Given the description of an element on the screen output the (x, y) to click on. 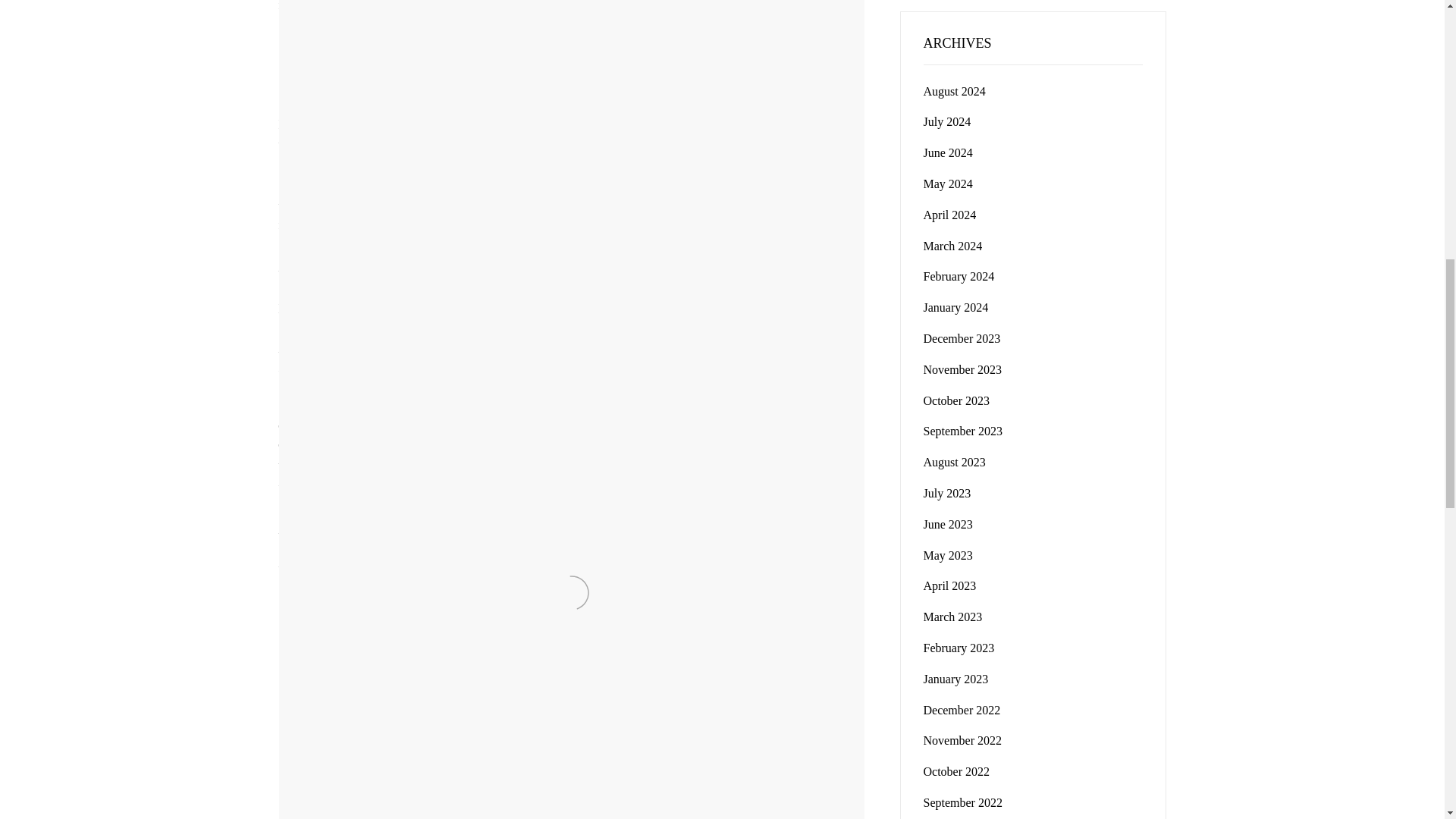
March 2024 (952, 245)
June 2024 (963, 369)
August 2023 (947, 152)
April 2024 (954, 461)
May 2024 (949, 214)
September 2023 (947, 183)
February 2024 (963, 431)
July 2024 (958, 276)
